Given the description of an element on the screen output the (x, y) to click on. 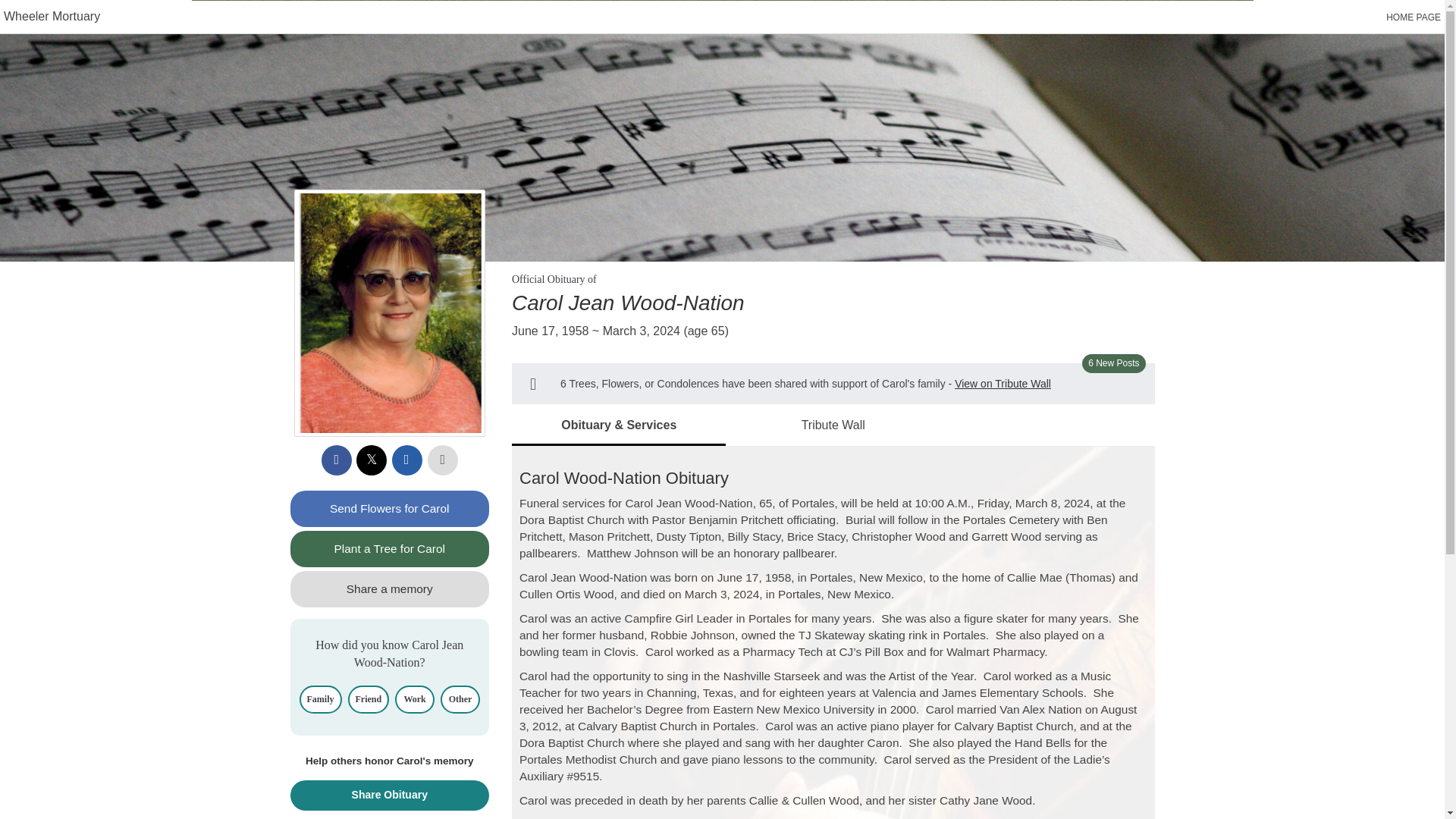
HOME PAGE (1413, 17)
Plant a Tree for Carol (389, 548)
Share via email (406, 460)
Share on X (371, 460)
Wheeler Mortuary (52, 15)
Send Flowers for Carol (389, 508)
View on Tribute Wall (1003, 383)
Share Obituary (389, 795)
Share to Facebook (336, 460)
Share a memory (389, 588)
